Given the description of an element on the screen output the (x, y) to click on. 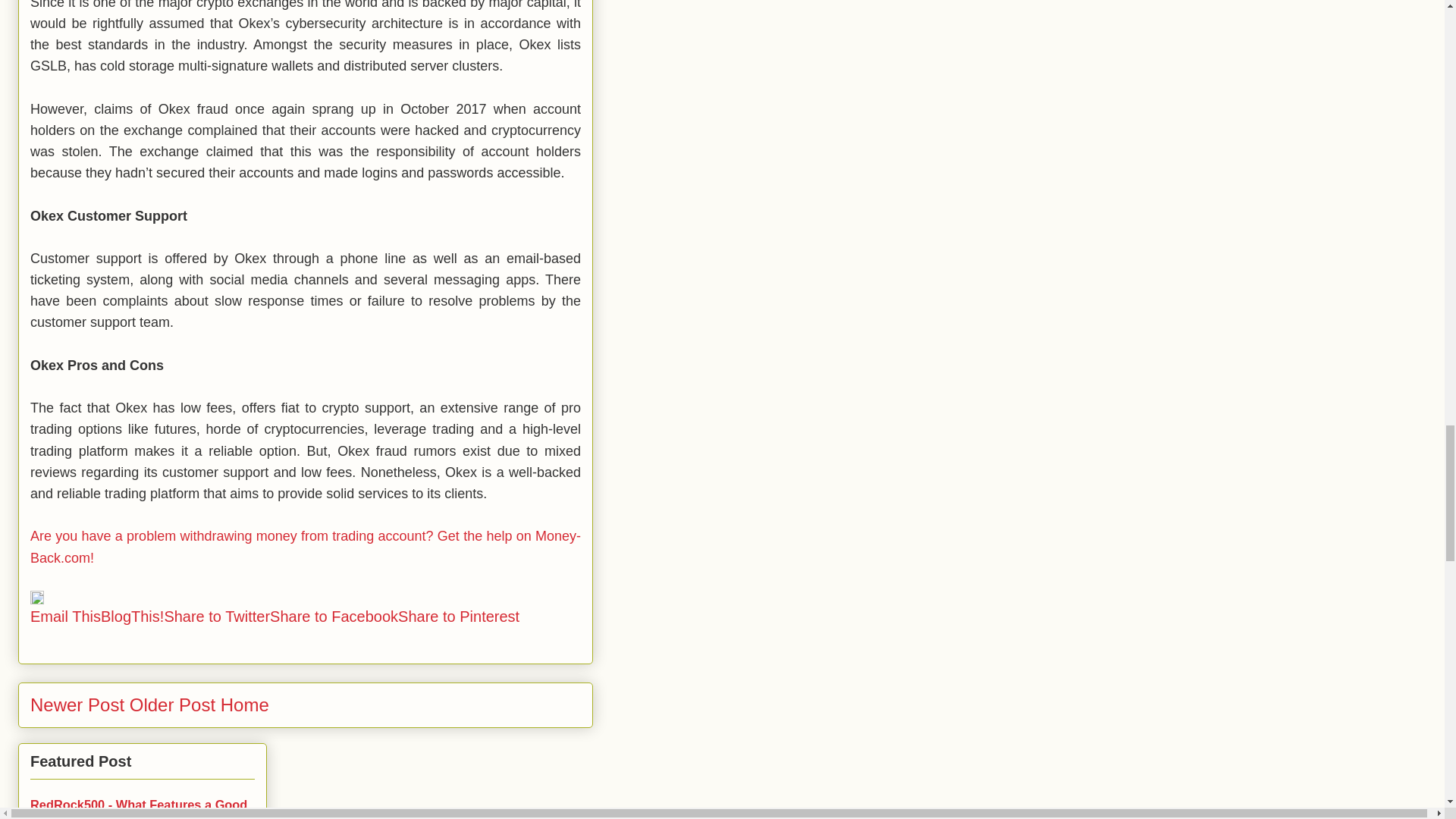
BlogThis! (131, 616)
Email This (65, 616)
RedRock500 - What Features a Good Broker Provides to Traders (138, 808)
Share to Pinterest (458, 616)
BlogThis! (131, 616)
Share to Twitter (216, 616)
Newer Post (76, 704)
Older Post (172, 704)
Share to Twitter (216, 616)
Email This (65, 616)
Newer Post (76, 704)
Older Post (172, 704)
Share to Pinterest (458, 616)
Share to Facebook (333, 616)
